Given the description of an element on the screen output the (x, y) to click on. 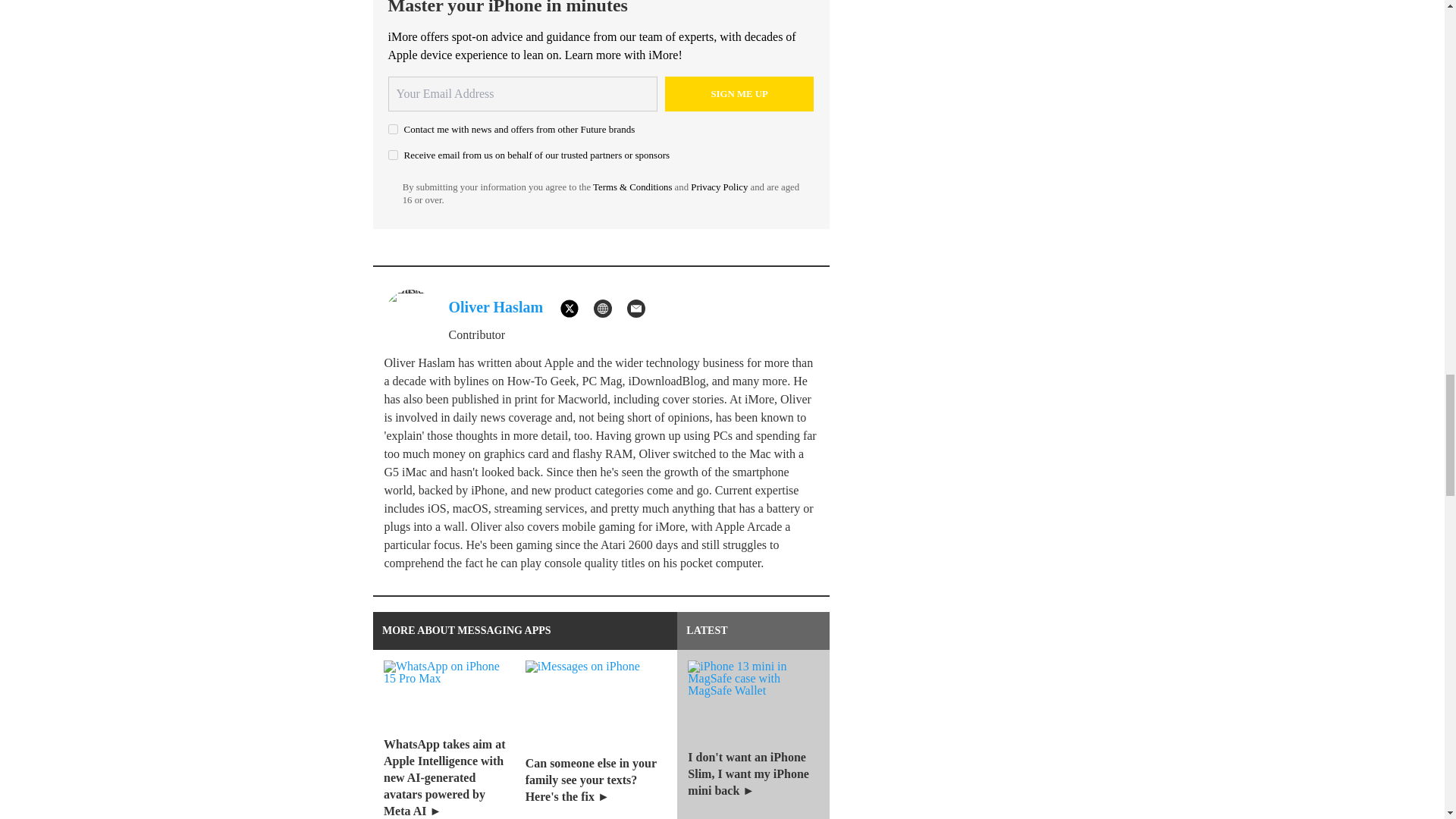
Sign me up (739, 93)
on (392, 129)
on (392, 154)
